Given the description of an element on the screen output the (x, y) to click on. 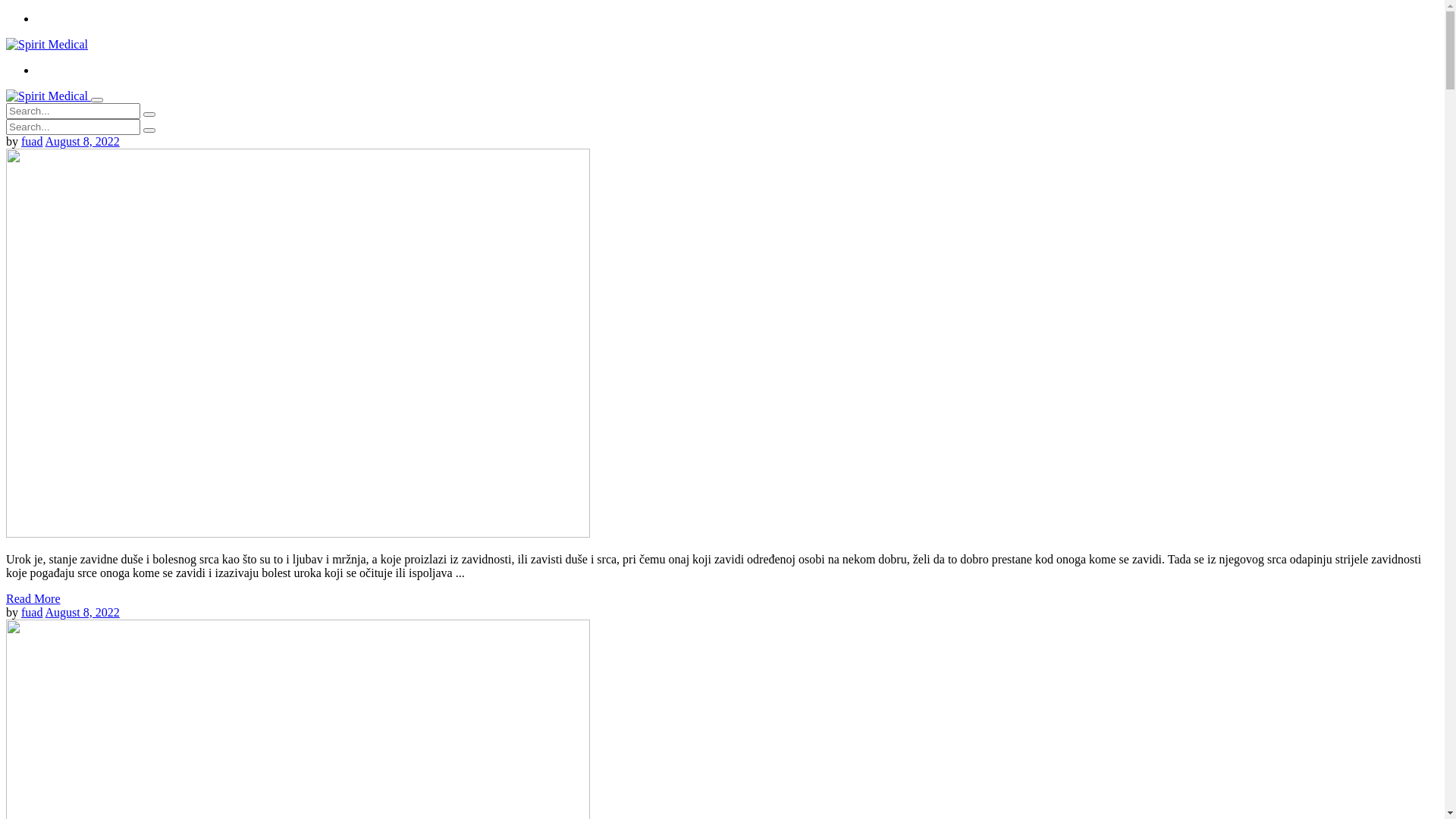
fuad Element type: text (31, 140)
August 8, 2022 Element type: text (82, 140)
August 8, 2022 Element type: text (82, 611)
fuad Element type: text (31, 611)
Read More Element type: text (33, 598)
